Given the description of an element on the screen output the (x, y) to click on. 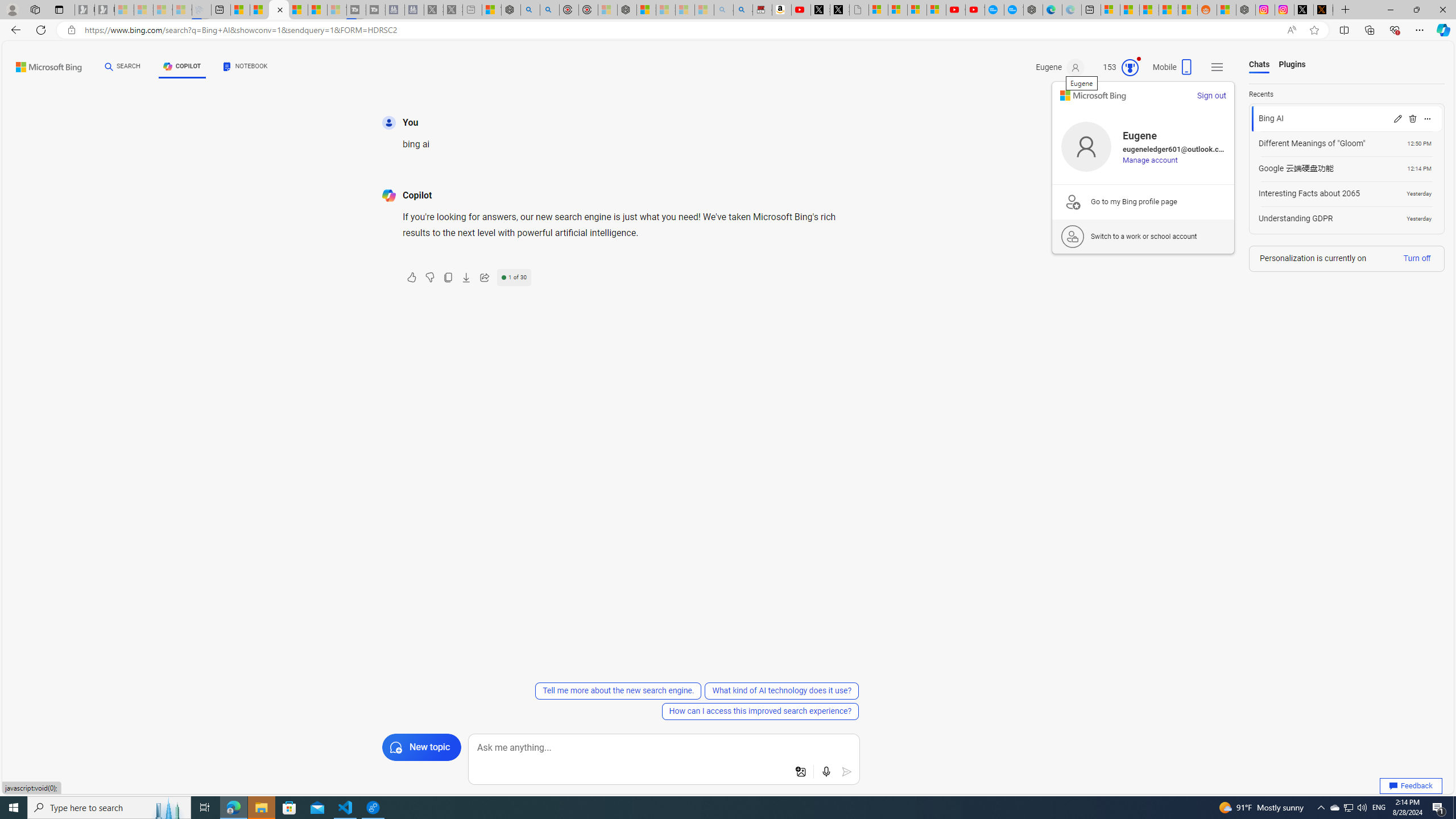
Day 1: Arriving in Yemen (surreal to be here) - YouTube (800, 9)
help.x.com | 524: A timeout occurred (1323, 9)
Load chat (1346, 218)
Nordace - Summer Adventures 2024 (1245, 9)
Microsoft Start (316, 9)
Manage account (1149, 159)
Add this page to favorites (Ctrl+D) (1314, 29)
work signin Switch to a work or school account (1143, 236)
Copy (448, 277)
Chats (1259, 65)
Profile Picture (1085, 146)
Feedback (1411, 785)
Address and search bar (680, 29)
Microsoft account | Microsoft Account Privacy Settings (1110, 9)
Bing Pages Upsell Logo (1072, 201)
